Given the description of an element on the screen output the (x, y) to click on. 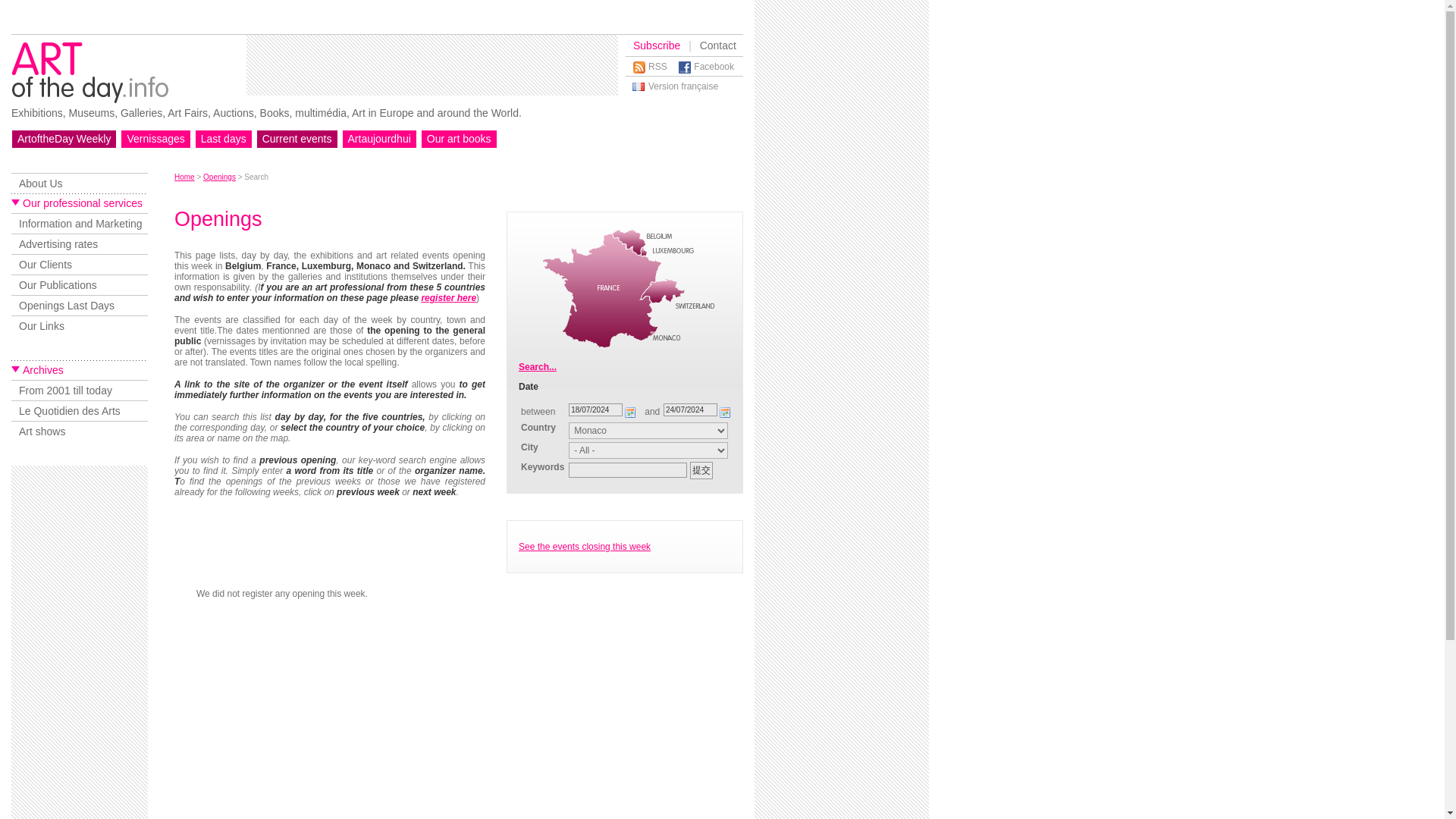
Advertising rates (79, 243)
Search... (537, 366)
Current events (296, 138)
Choose date (630, 413)
Advertisement (841, 283)
Choose date (725, 413)
Last days (223, 138)
Information and Marketing (79, 222)
Our Links (79, 325)
About Us (79, 182)
Art shows (79, 430)
Advertisement (78, 646)
Our Publications (79, 284)
Openings Last Days (79, 304)
Le Quotidien des Arts (79, 410)
